Given the description of an element on the screen output the (x, y) to click on. 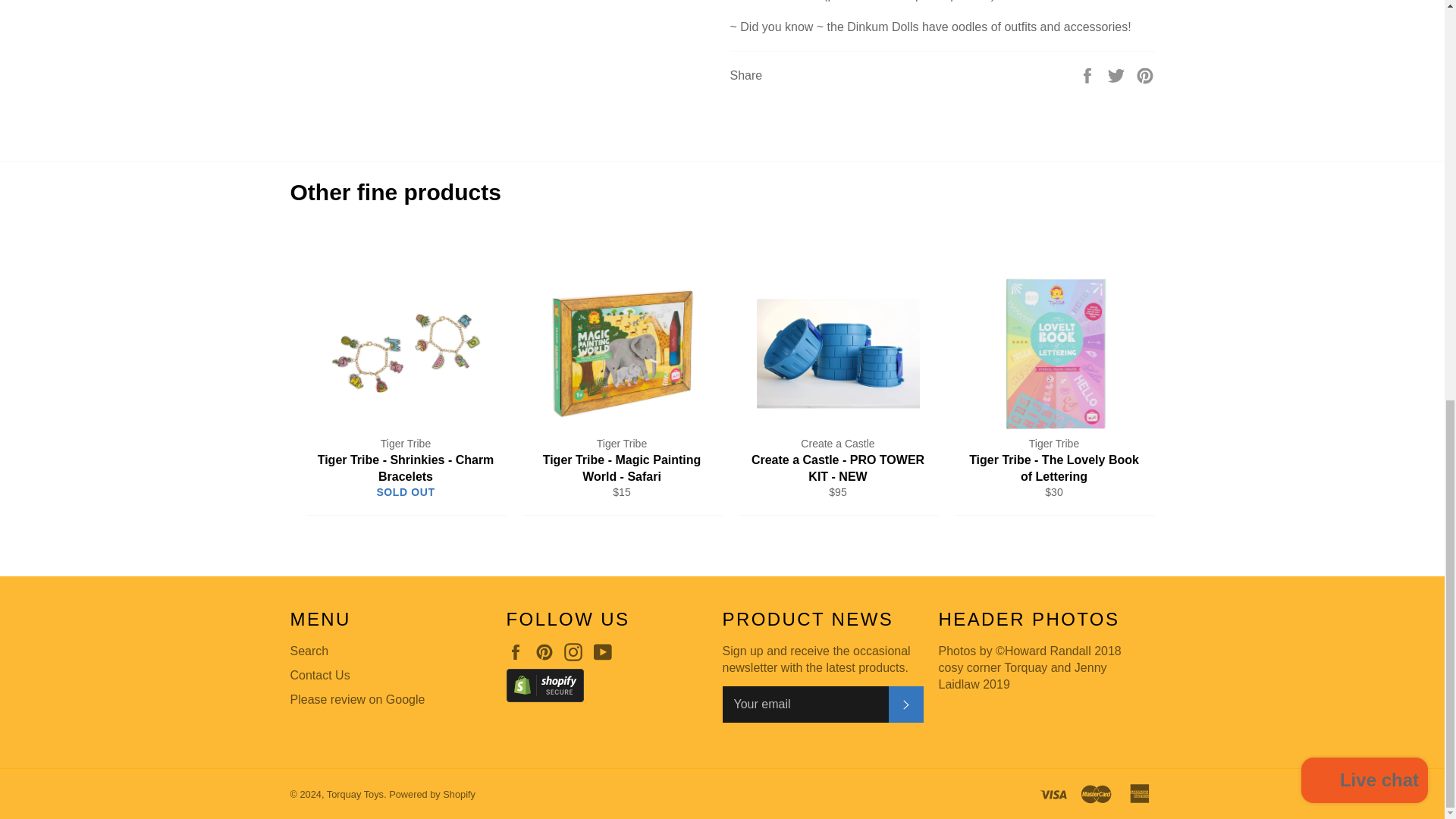
Tweet on Twitter (1117, 74)
Share on Facebook (1088, 74)
Torquay Toys on Instagram (576, 651)
Torquay Toys on Pinterest (547, 651)
Torquay Toys on Facebook (519, 651)
Torquay Toys on YouTube (607, 651)
This online store is secured by Shopify (606, 687)
Shopify online store chat (1364, 12)
Pin on Pinterest (1144, 74)
